Given the description of an element on the screen output the (x, y) to click on. 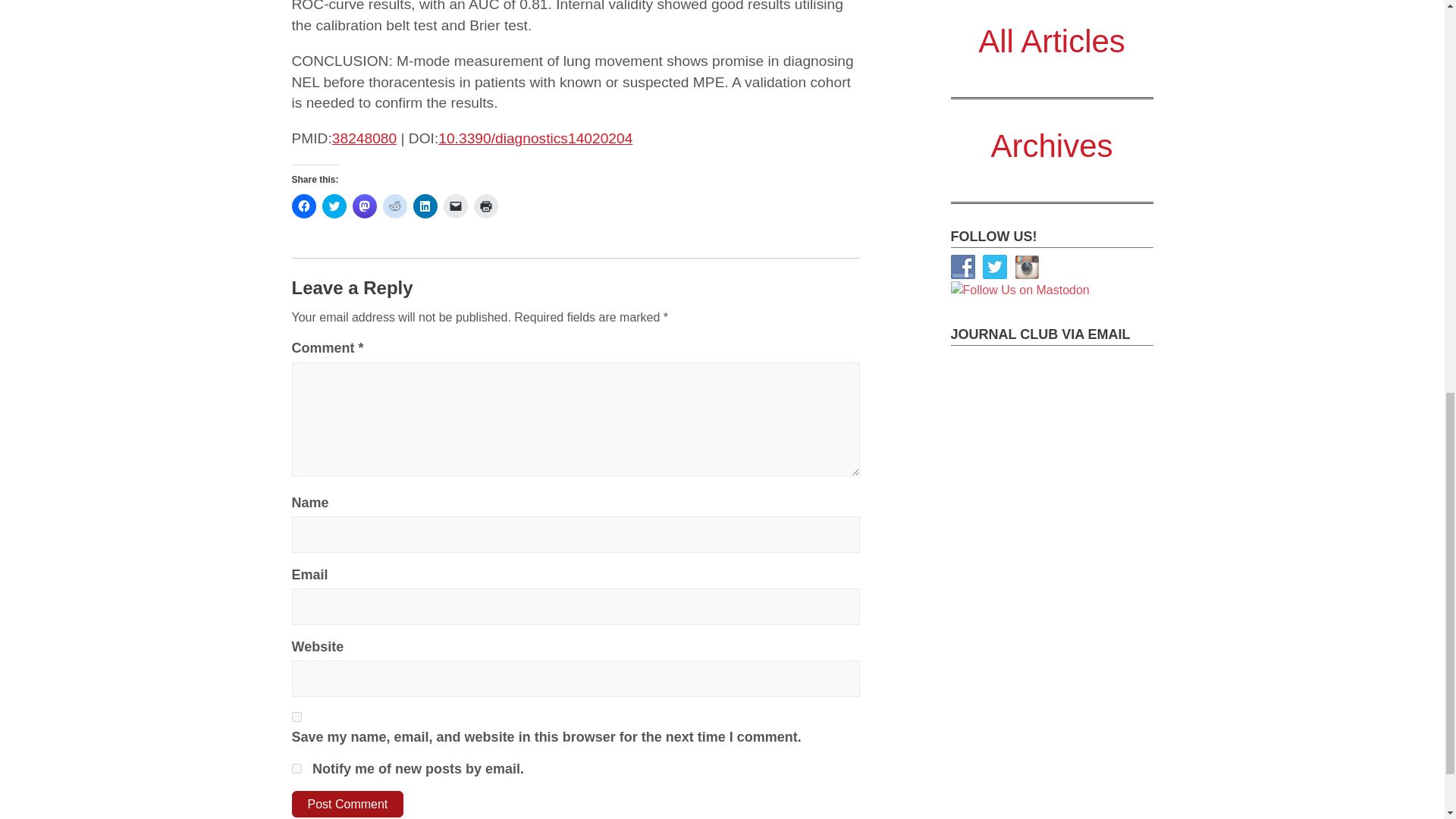
subscribe (296, 768)
Click to share on Reddit (393, 206)
Post Comment (347, 804)
Click to email a link to a friend (454, 206)
Click to share on Mastodon (363, 206)
Click to share on Facebook (303, 206)
Post Comment (347, 804)
38248080 (363, 138)
yes (296, 716)
Click to share on LinkedIn (424, 206)
